Given the description of an element on the screen output the (x, y) to click on. 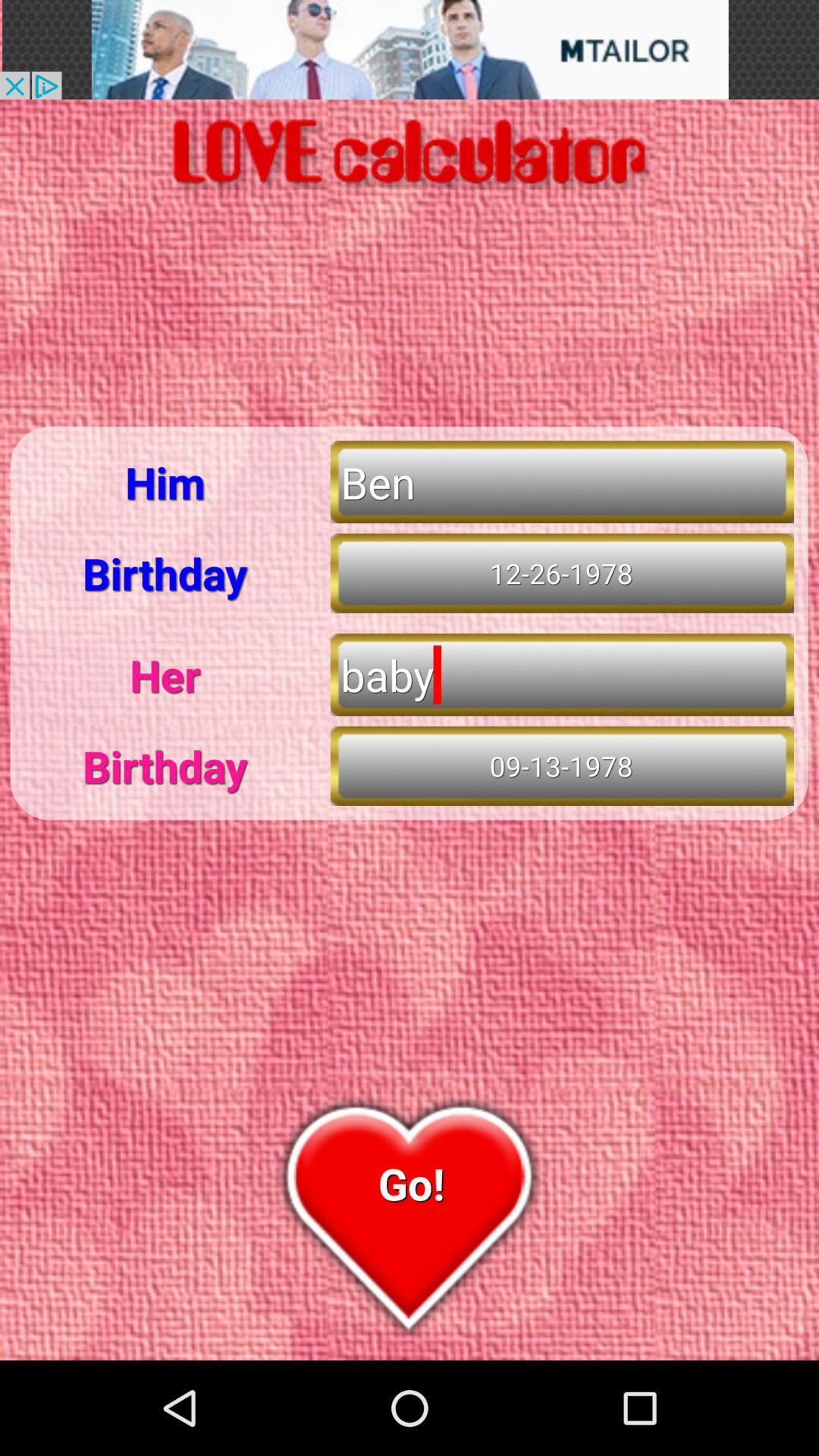
advertiser banner (409, 49)
